Given the description of an element on the screen output the (x, y) to click on. 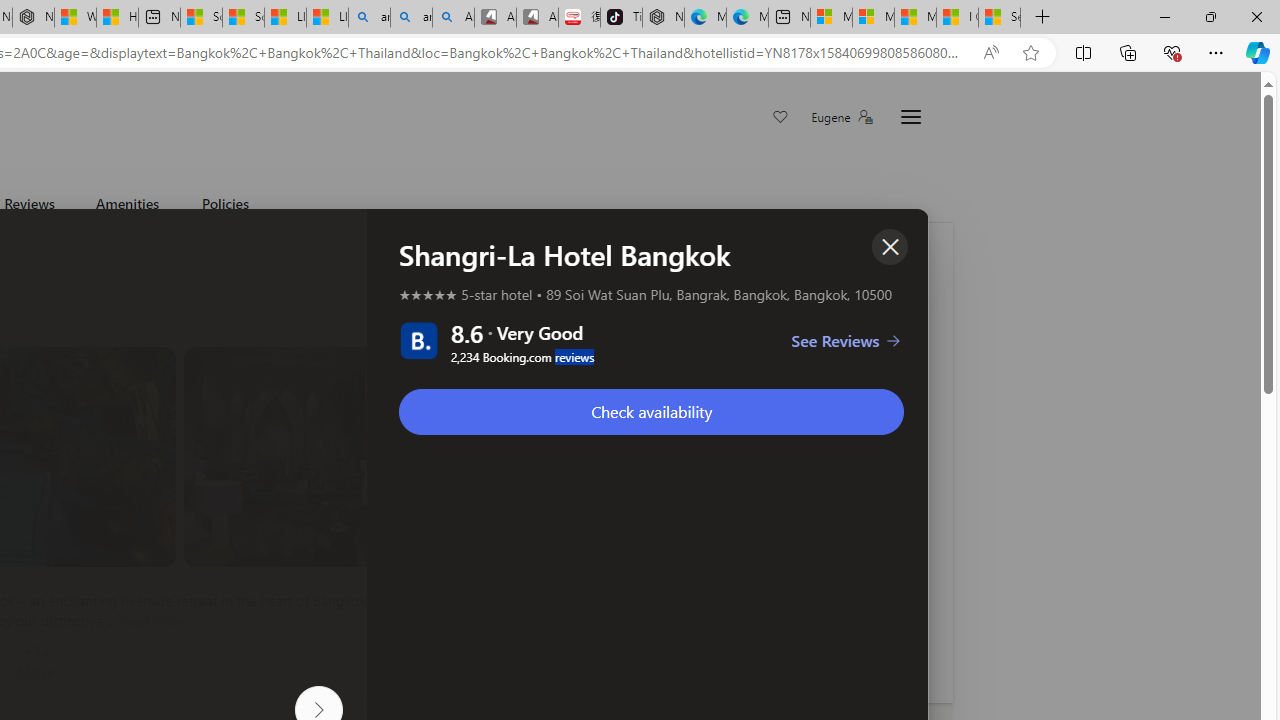
I Gained 20 Pounds of Muscle in 30 Days! | Watch (957, 17)
Nordace - Best Sellers (662, 17)
Amazon Echo Robot - Search Images (452, 17)
TikTok (621, 17)
All Cubot phones (537, 17)
amazon - Search Images (411, 17)
Huge shark washes ashore at New York City beach | Watch (117, 17)
